Given the description of an element on the screen output the (x, y) to click on. 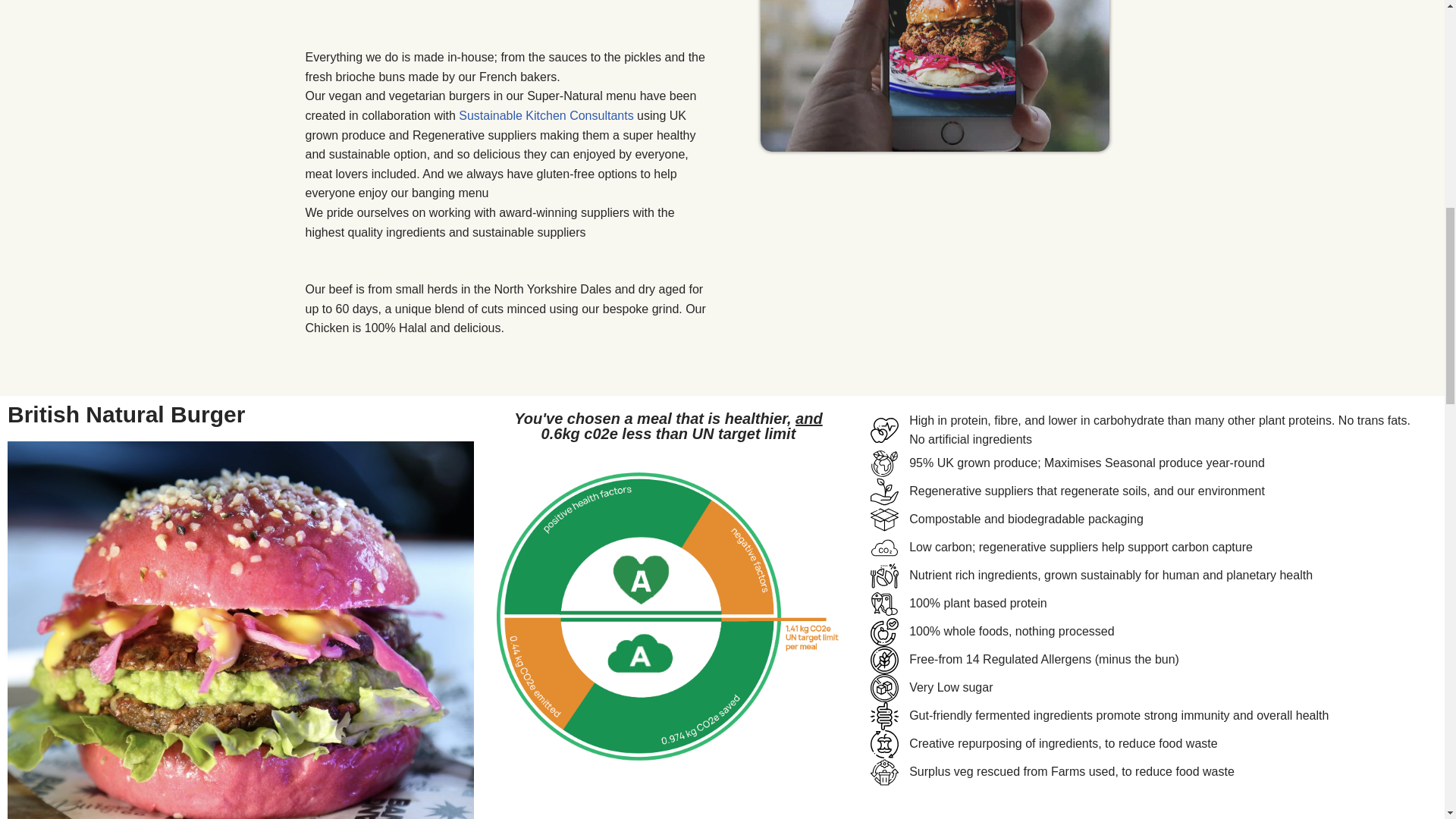
Sustainable Kitchen Consultants (545, 115)
